Given the description of an element on the screen output the (x, y) to click on. 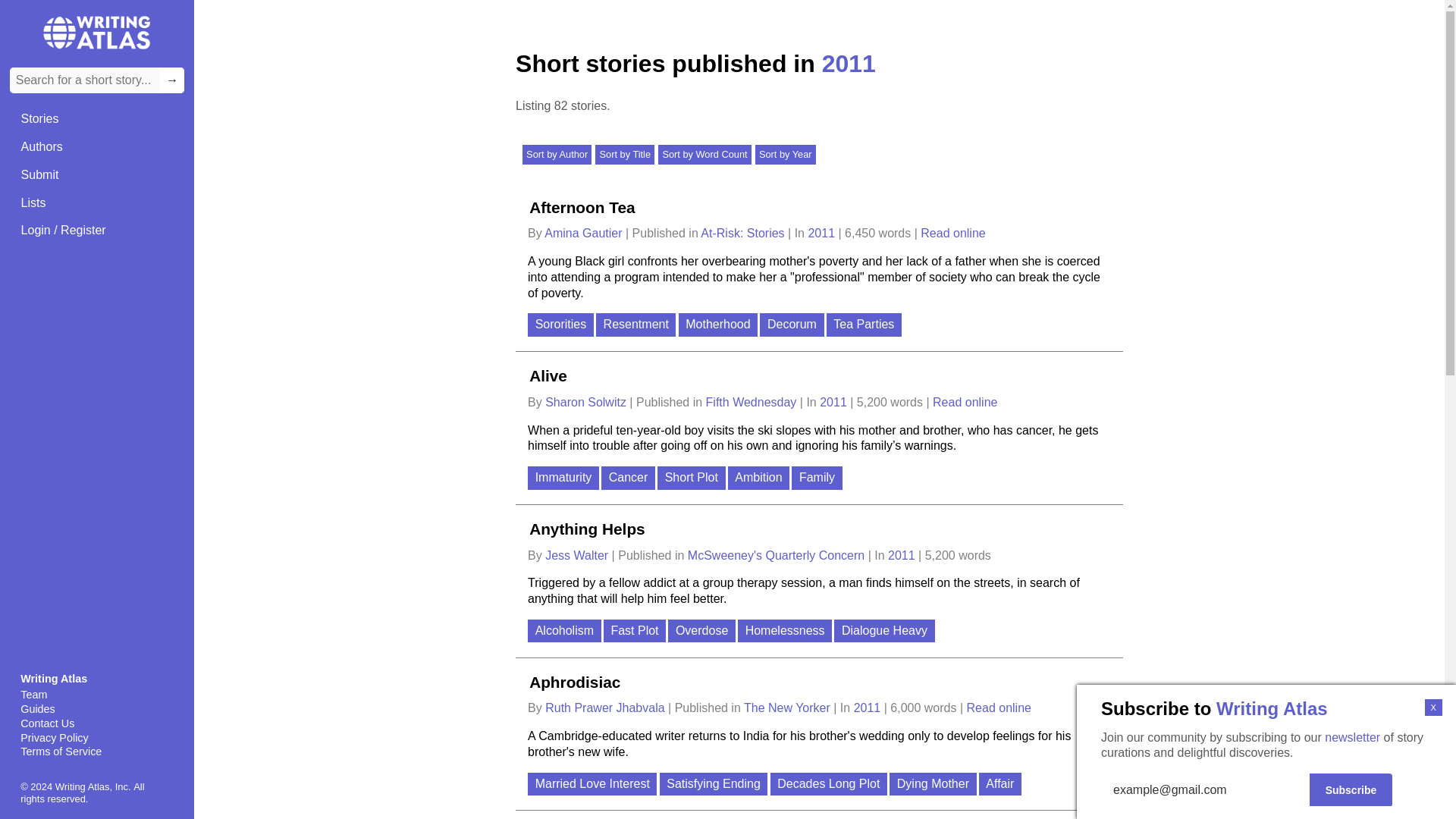
Alive (548, 375)
Fifth Wednesday (752, 401)
Contact Us (96, 723)
Resentment (636, 325)
Anything Helps (586, 528)
2011 (823, 232)
Short Plot (693, 479)
5,200 (871, 401)
Sort by Word Count (704, 153)
Sort by Year (785, 153)
